Given the description of an element on the screen output the (x, y) to click on. 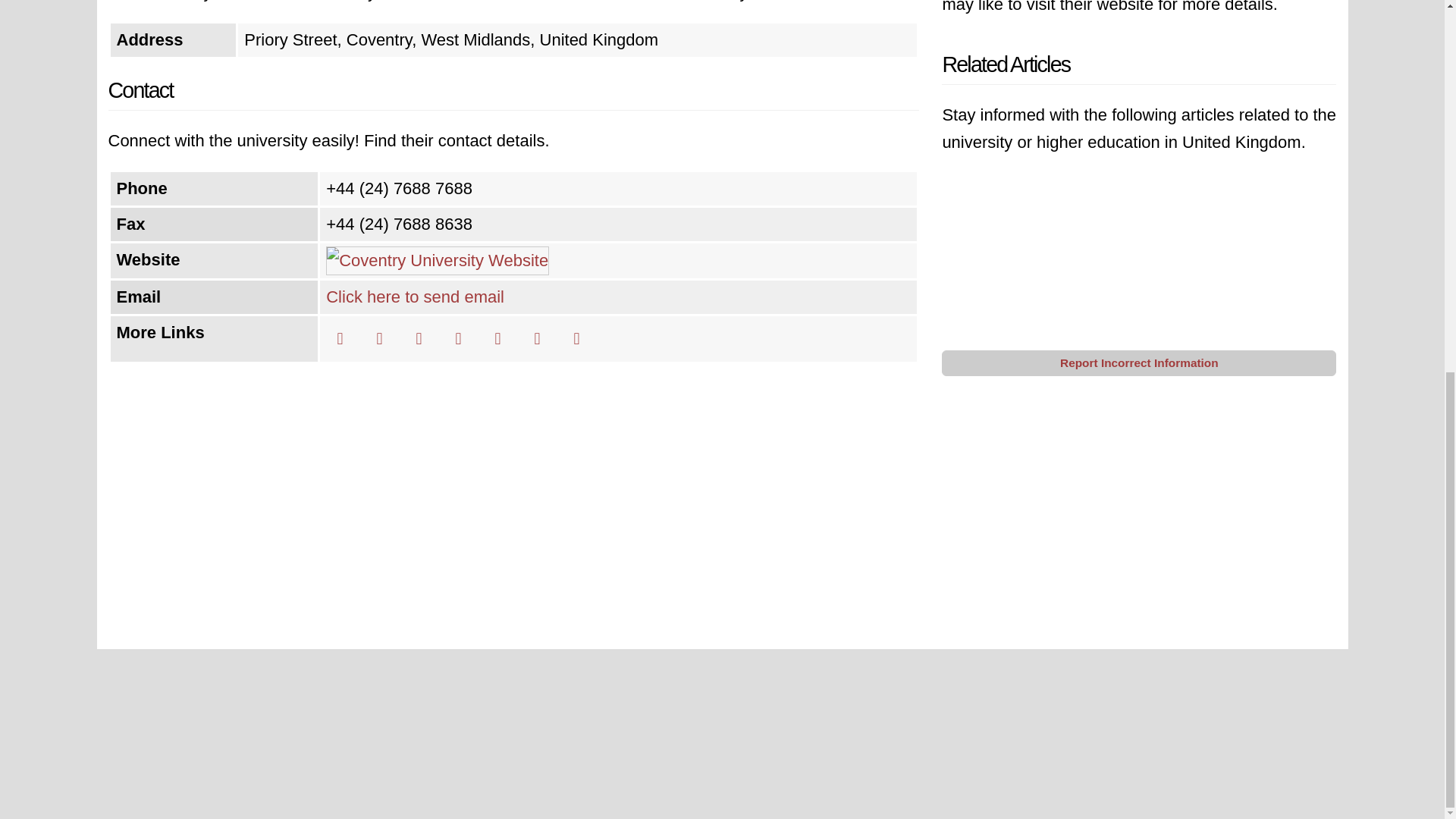
Click here to send email (414, 296)
Report Incorrect Information (1139, 362)
Coventry University Website (437, 260)
Send an email to Coventry University (414, 296)
